Given the description of an element on the screen output the (x, y) to click on. 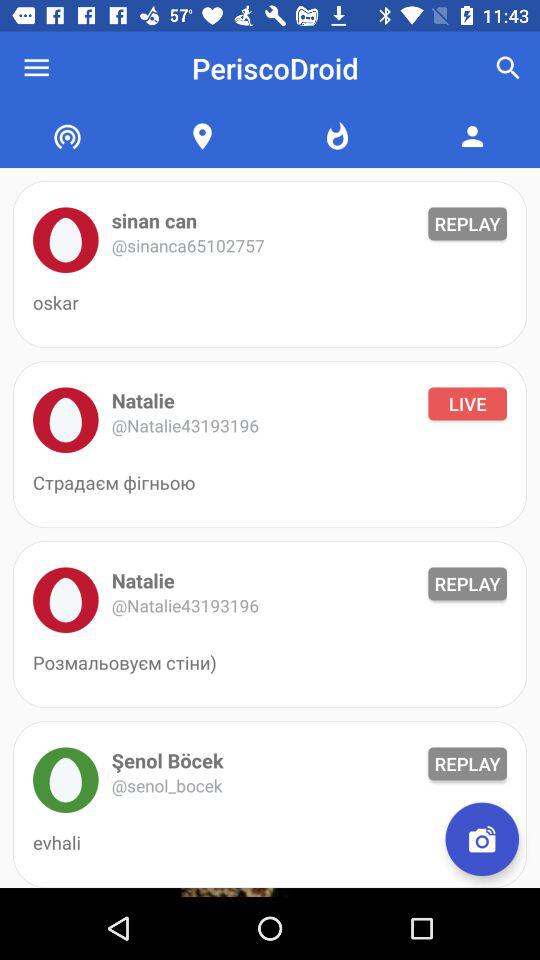
choose the icon next to periscodroid (508, 67)
